Given the description of an element on the screen output the (x, y) to click on. 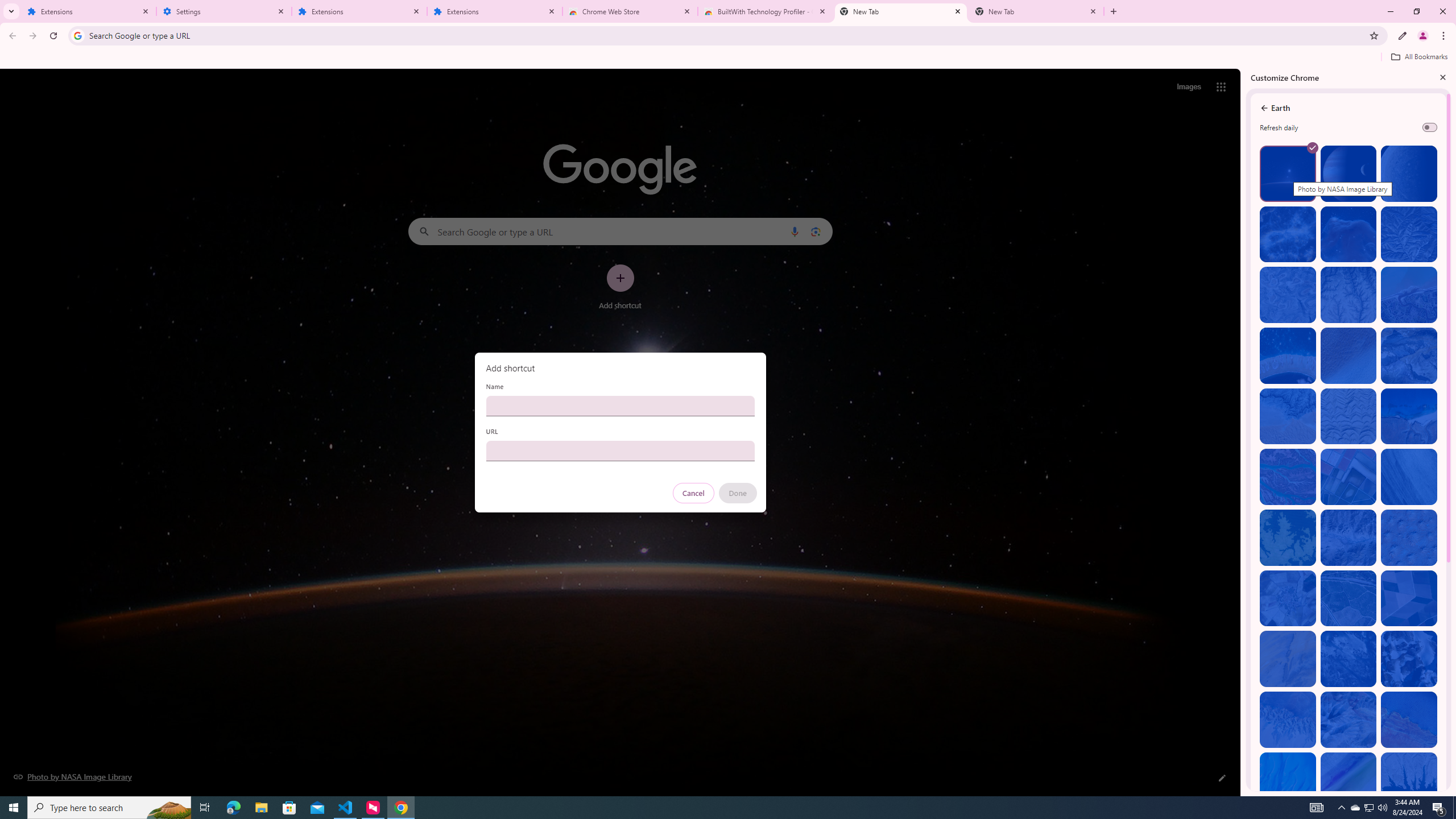
South Eleuthera, The Bahamas (1287, 780)
